Given the description of an element on the screen output the (x, y) to click on. 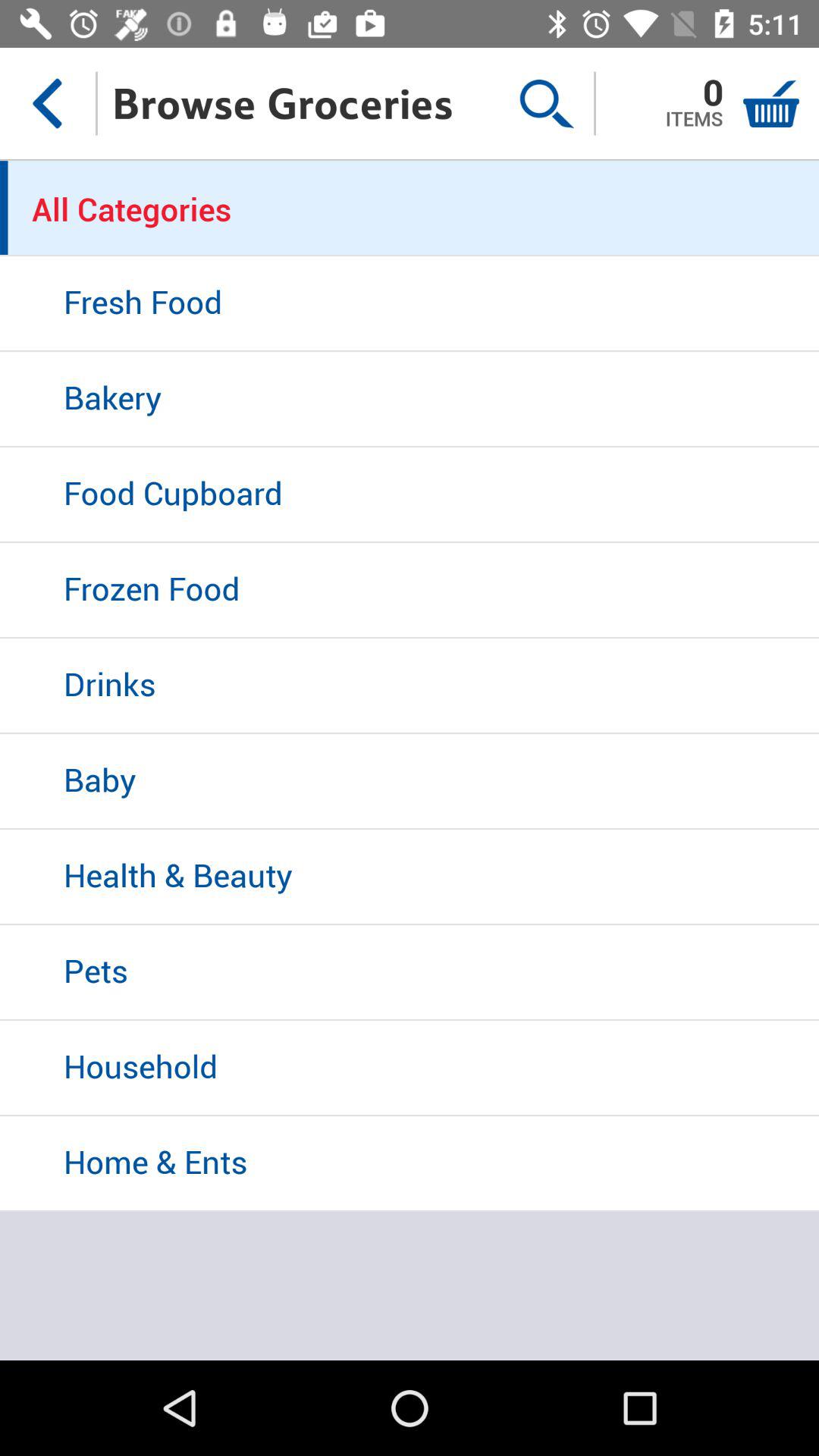
turn on icon above frozen food item (409, 495)
